Given the description of an element on the screen output the (x, y) to click on. 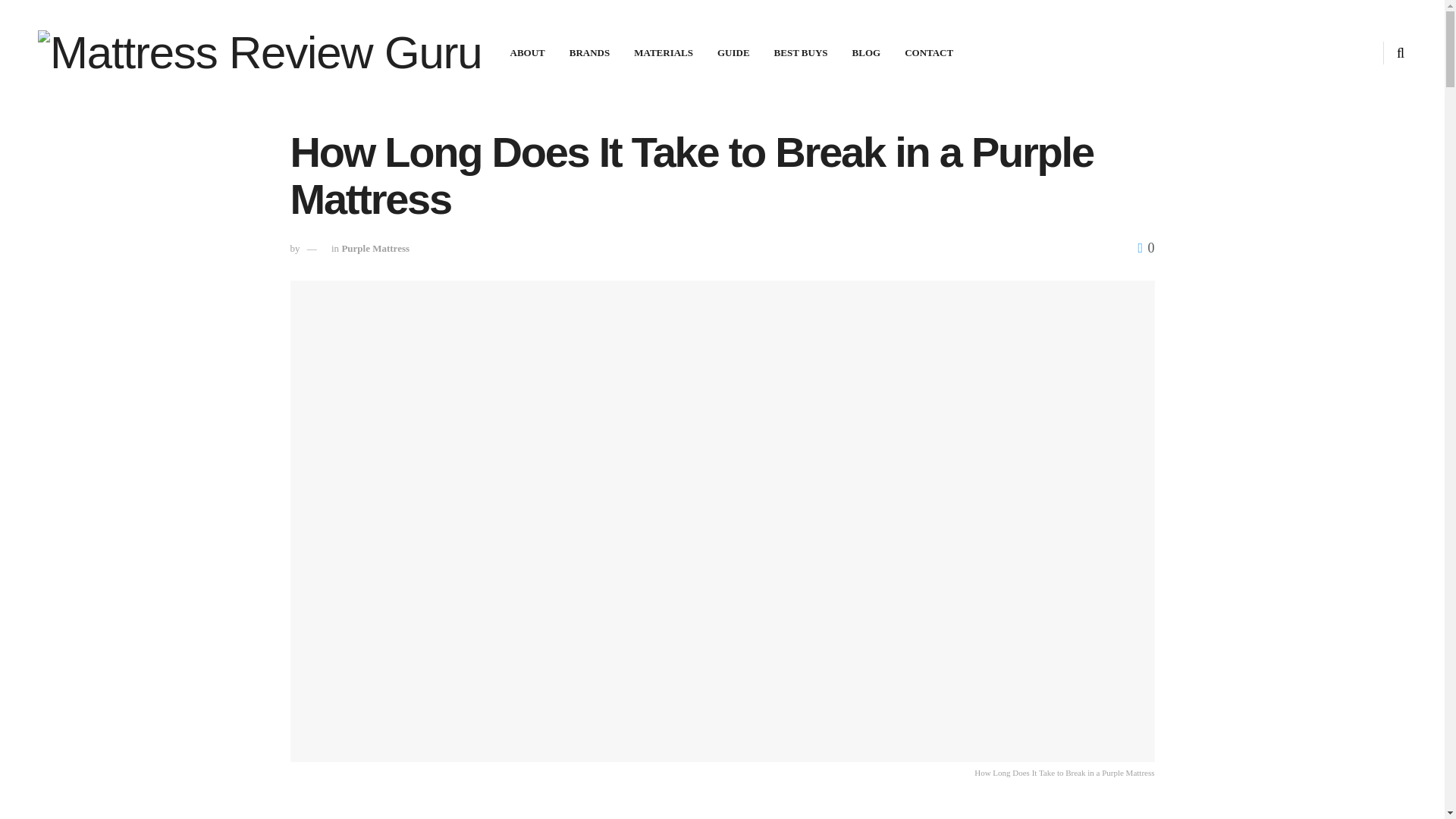
0 (1145, 247)
BRANDS (589, 53)
GUIDE (732, 53)
BLOG (866, 53)
BEST BUYS (800, 53)
ABOUT (526, 53)
CONTACT (928, 53)
MATERIALS (662, 53)
Purple Mattress (374, 247)
